Given the description of an element on the screen output the (x, y) to click on. 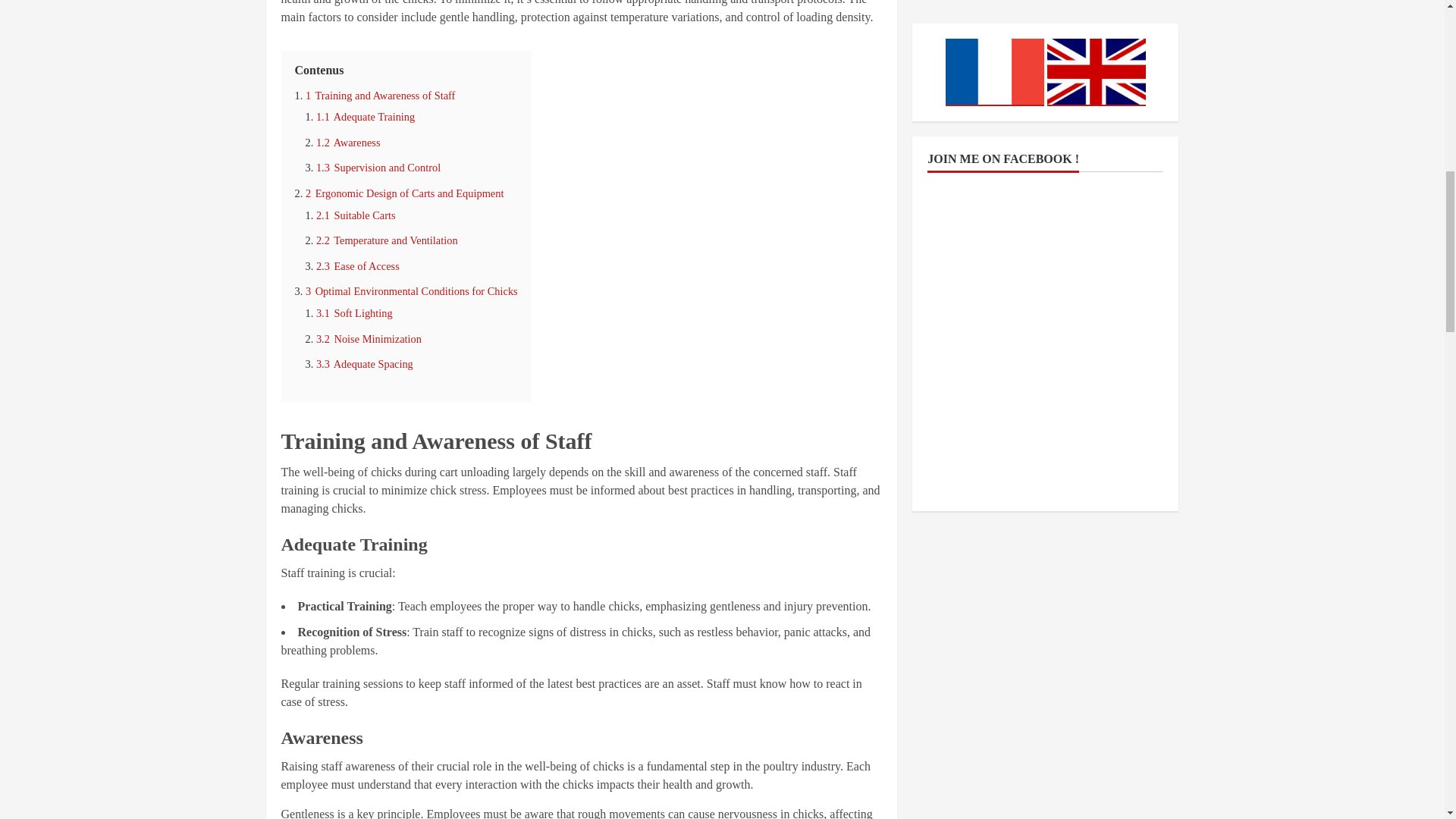
1.3 Supervision and Control (378, 167)
1.2 Awareness (347, 142)
2 Ergonomic Design of Carts and Equipment (404, 193)
3.2 Noise Minimization (368, 338)
2.1 Suitable Carts (355, 215)
1 Training and Awareness of Staff (379, 95)
3 Optimal Environmental Conditions for Chicks (411, 291)
2.2 Temperature and Ventilation (386, 240)
3.1 Soft Lighting (354, 313)
1.1 Adequate Training (364, 116)
2.3 Ease of Access (356, 265)
3.3 Adequate Spacing (364, 363)
